Given the description of an element on the screen output the (x, y) to click on. 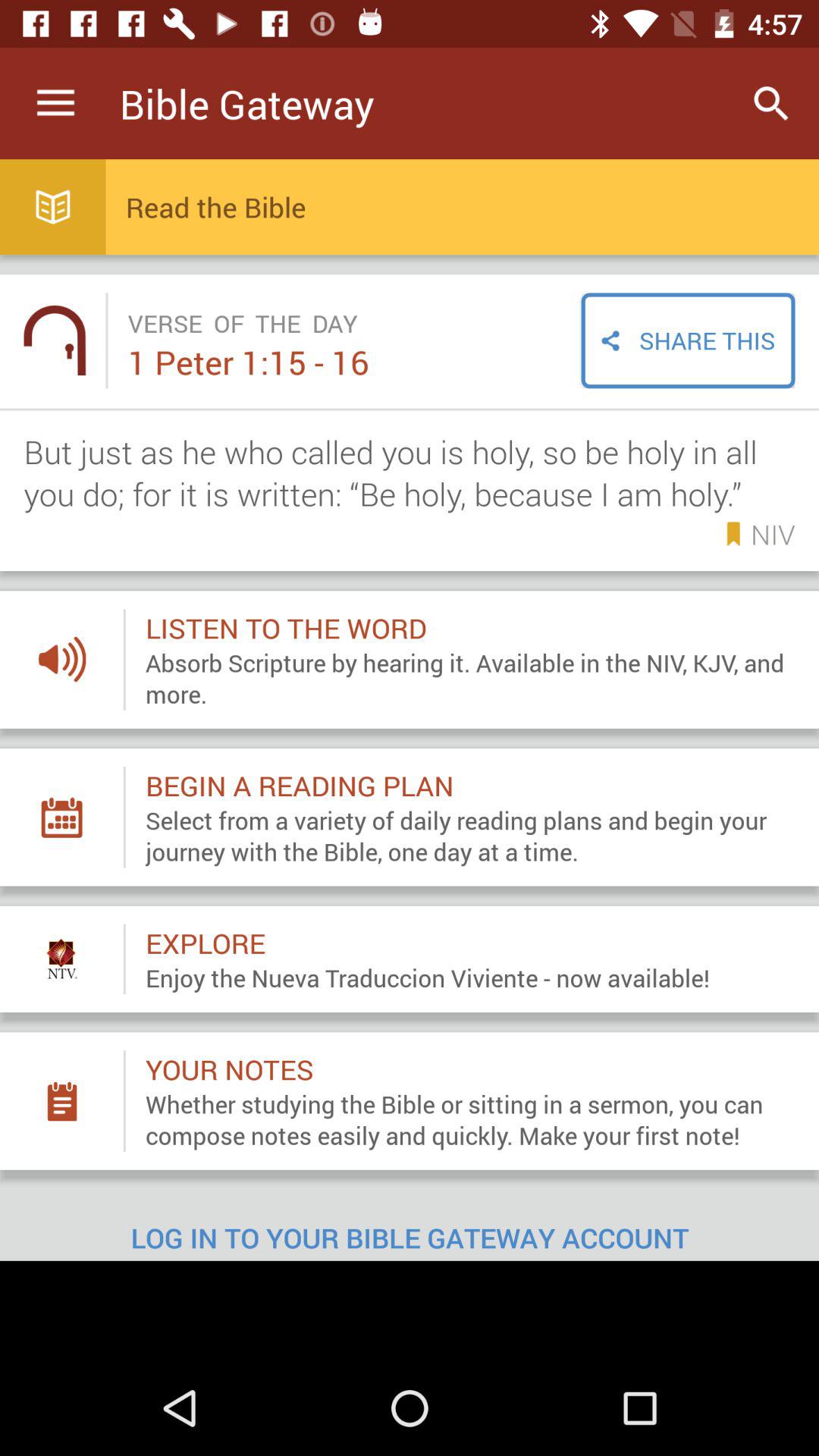
select the share this item (688, 340)
